Given the description of an element on the screen output the (x, y) to click on. 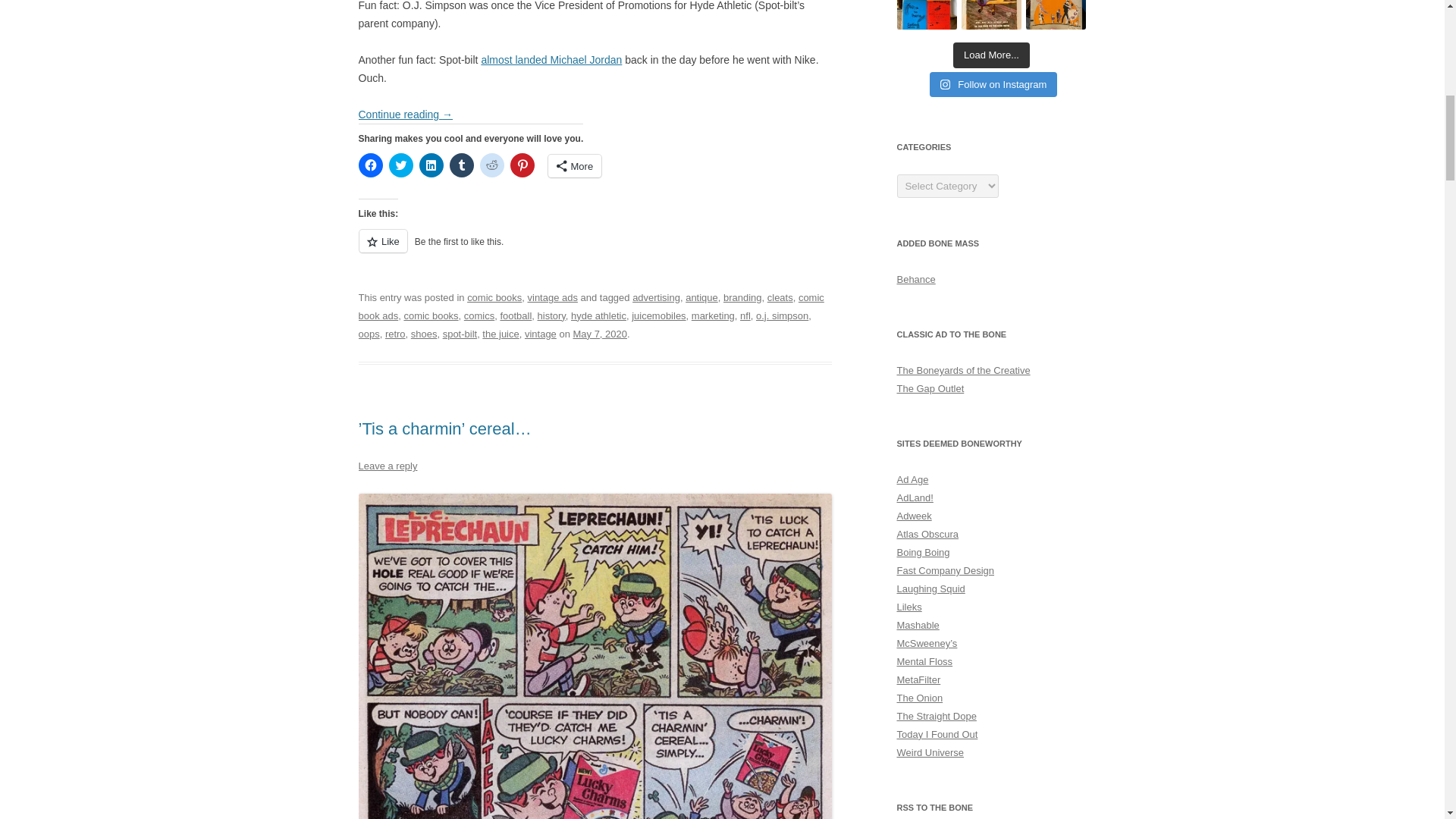
Click to share on Tumblr (460, 165)
advertising (655, 297)
oops (368, 333)
Click to share on Pinterest (521, 165)
More (574, 165)
Click to share on LinkedIn (430, 165)
almost landed Michael Jordan (550, 60)
Click to share on Facebook (369, 165)
hyde athletic (598, 315)
Click to share on Twitter (400, 165)
juicemobiles (658, 315)
comic books (430, 315)
football (515, 315)
comic book ads (591, 306)
comic books (494, 297)
